Given the description of an element on the screen output the (x, y) to click on. 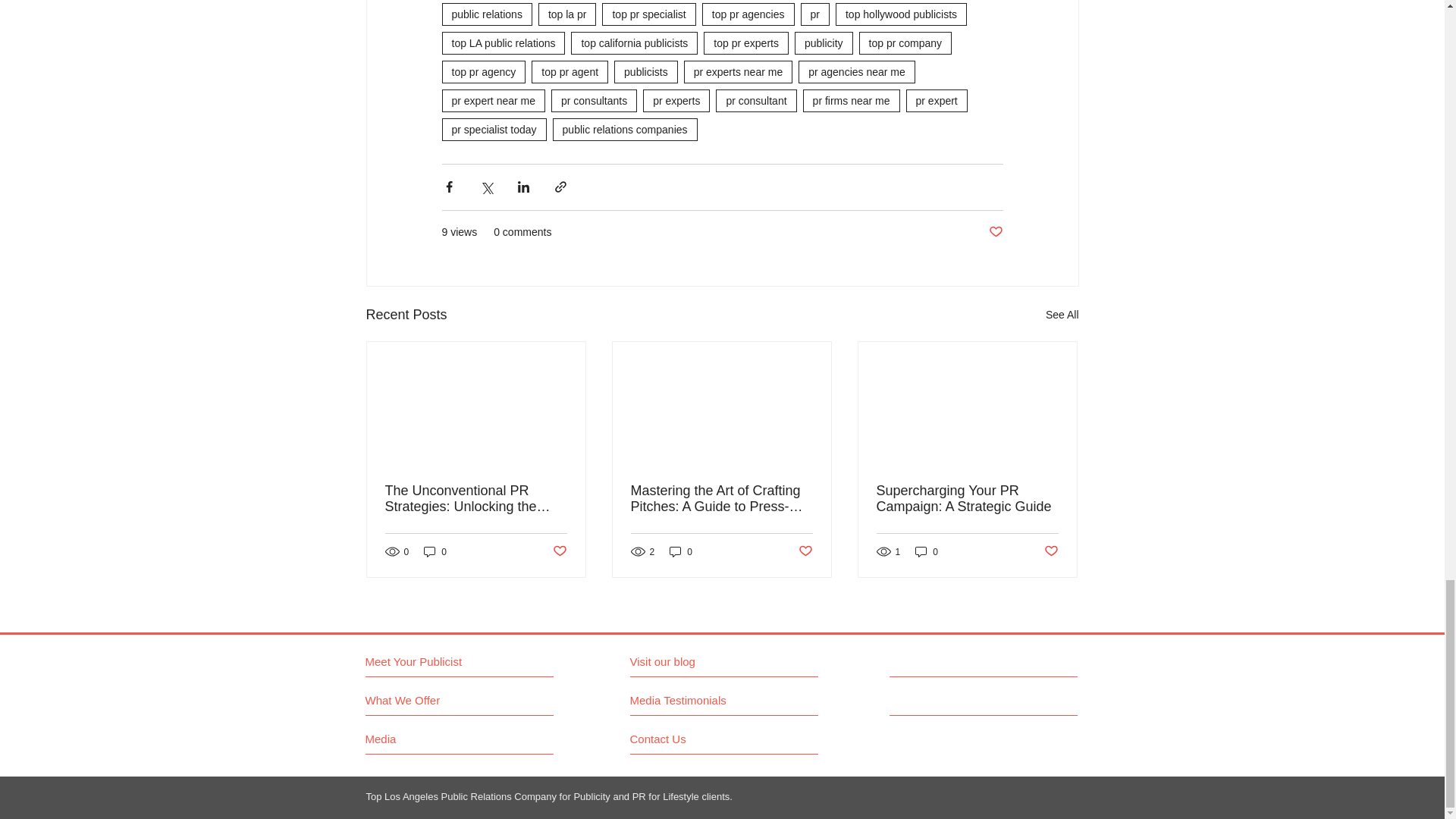
top pr experts (746, 42)
top LA public relations (502, 42)
top pr agencies (747, 14)
pr experts near me (738, 71)
pr (814, 14)
public relations (486, 14)
top la pr (567, 14)
pr expert near me (492, 100)
top pr agent (569, 71)
top pr company (905, 42)
